Given the description of an element on the screen output the (x, y) to click on. 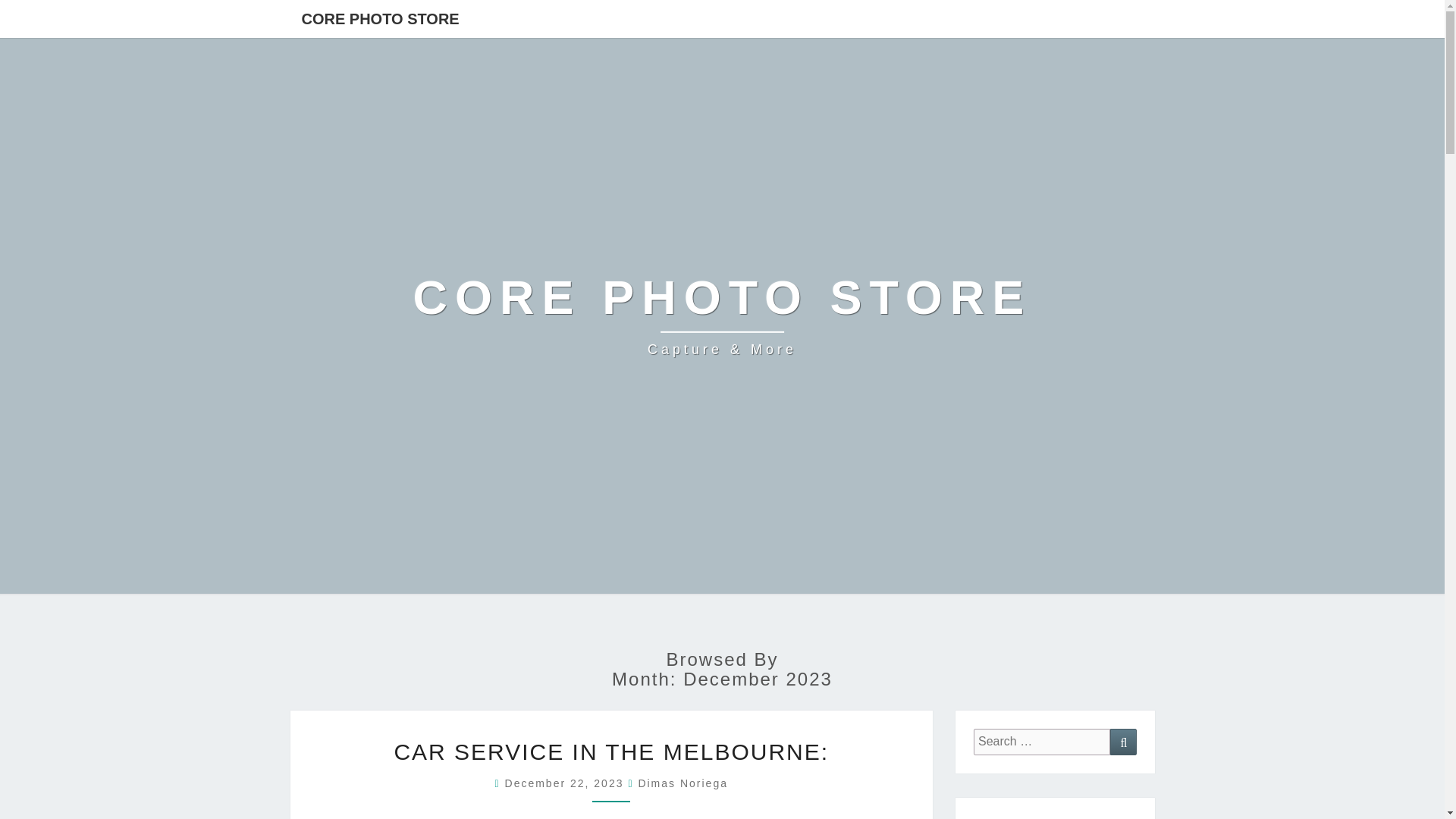
Dimas Noriega (682, 783)
Core Photo Store (722, 315)
CAR SERVICE IN THE MELBOURNE: (610, 751)
Search (1123, 741)
CORE PHOTO STORE (379, 18)
5:07 am (566, 783)
Search for: (1041, 741)
December 22, 2023 (566, 783)
View all posts by Dimas Noriega (682, 783)
